Given the description of an element on the screen output the (x, y) to click on. 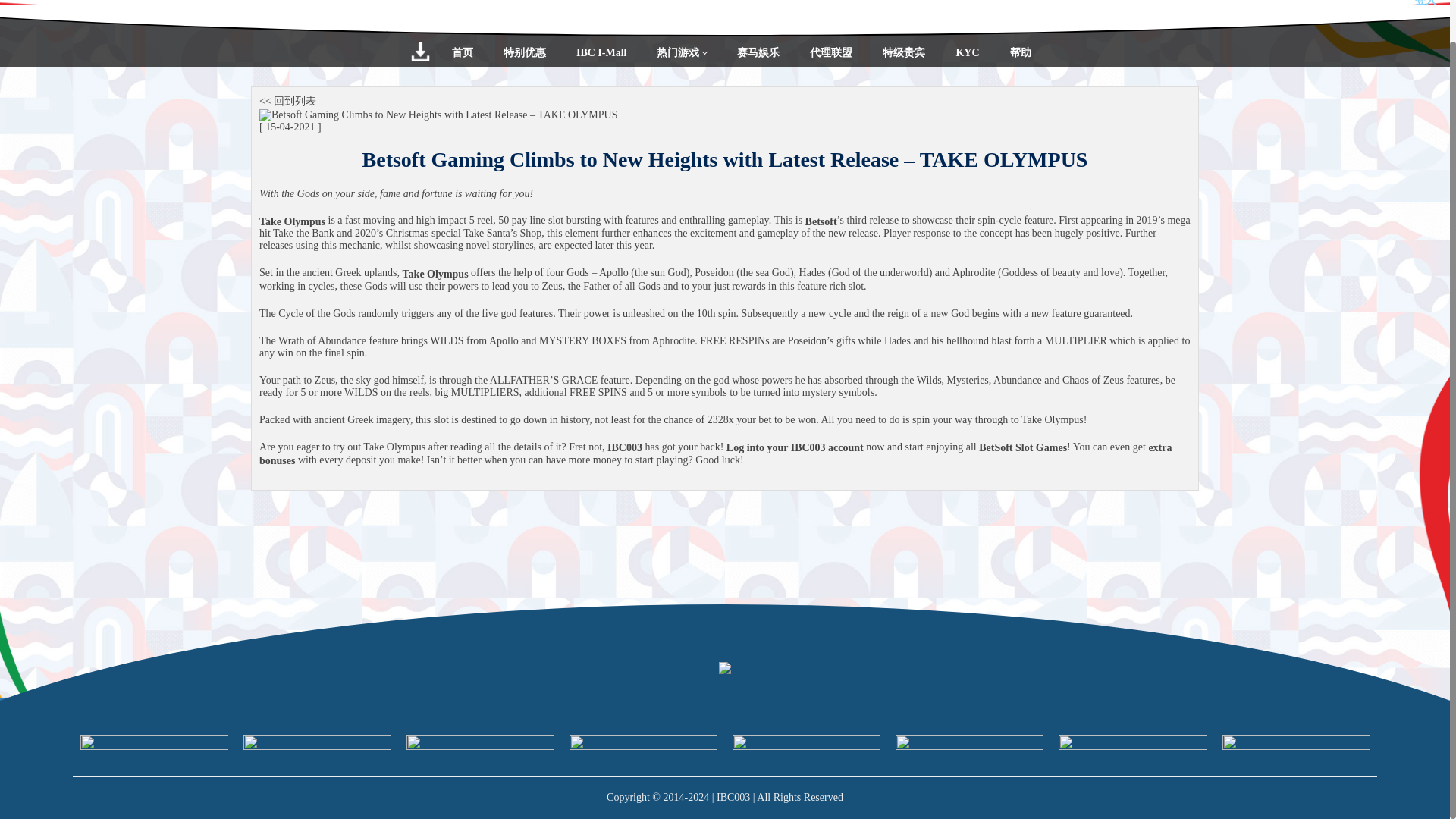
KYC (967, 51)
IBC I-Mall (601, 51)
